Given the description of an element on the screen output the (x, y) to click on. 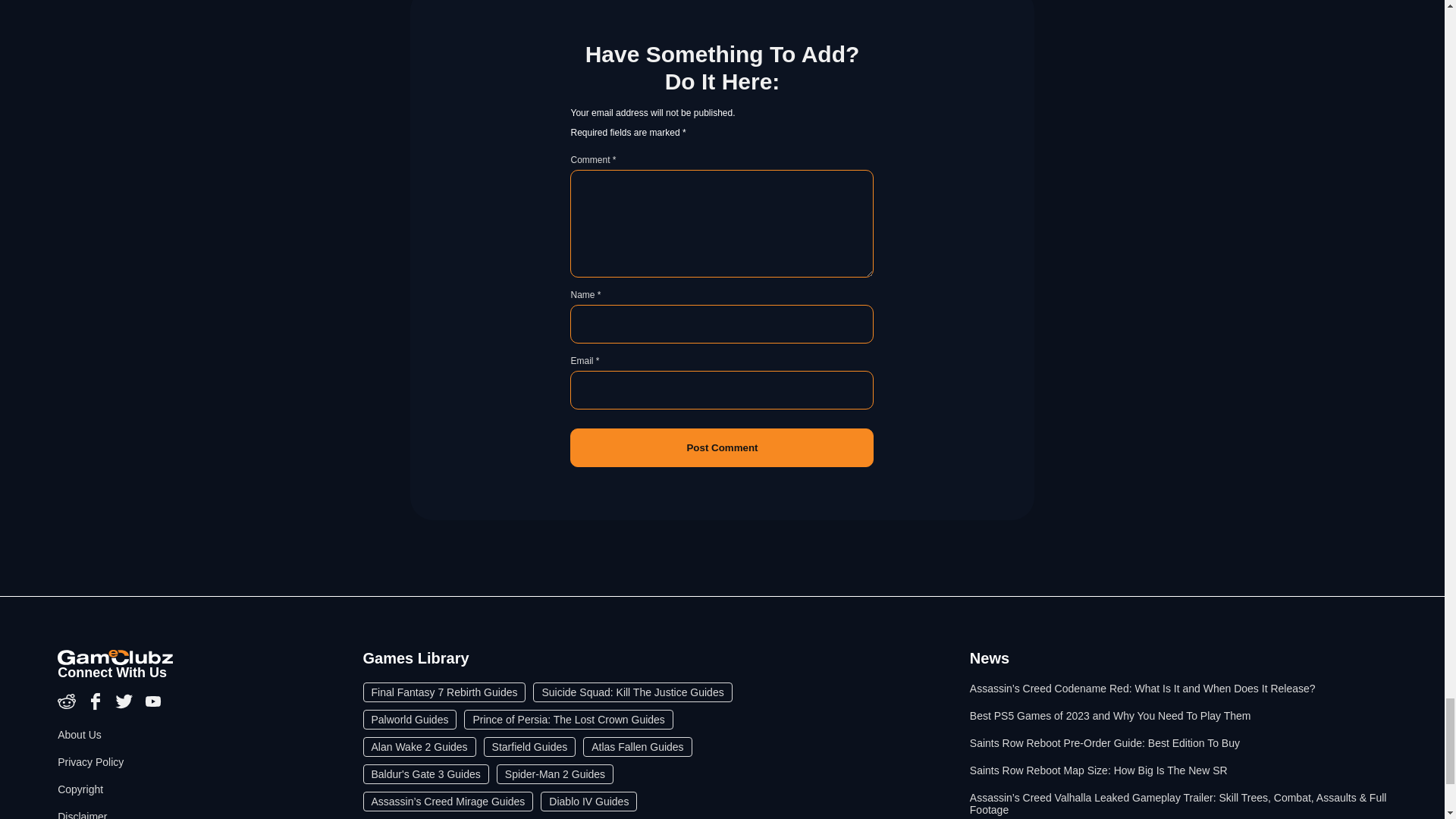
instagram (68, 706)
youtube (152, 706)
facebook (96, 706)
Post Comment (721, 447)
twitter (125, 706)
Post Comment (721, 447)
